Given the description of an element on the screen output the (x, y) to click on. 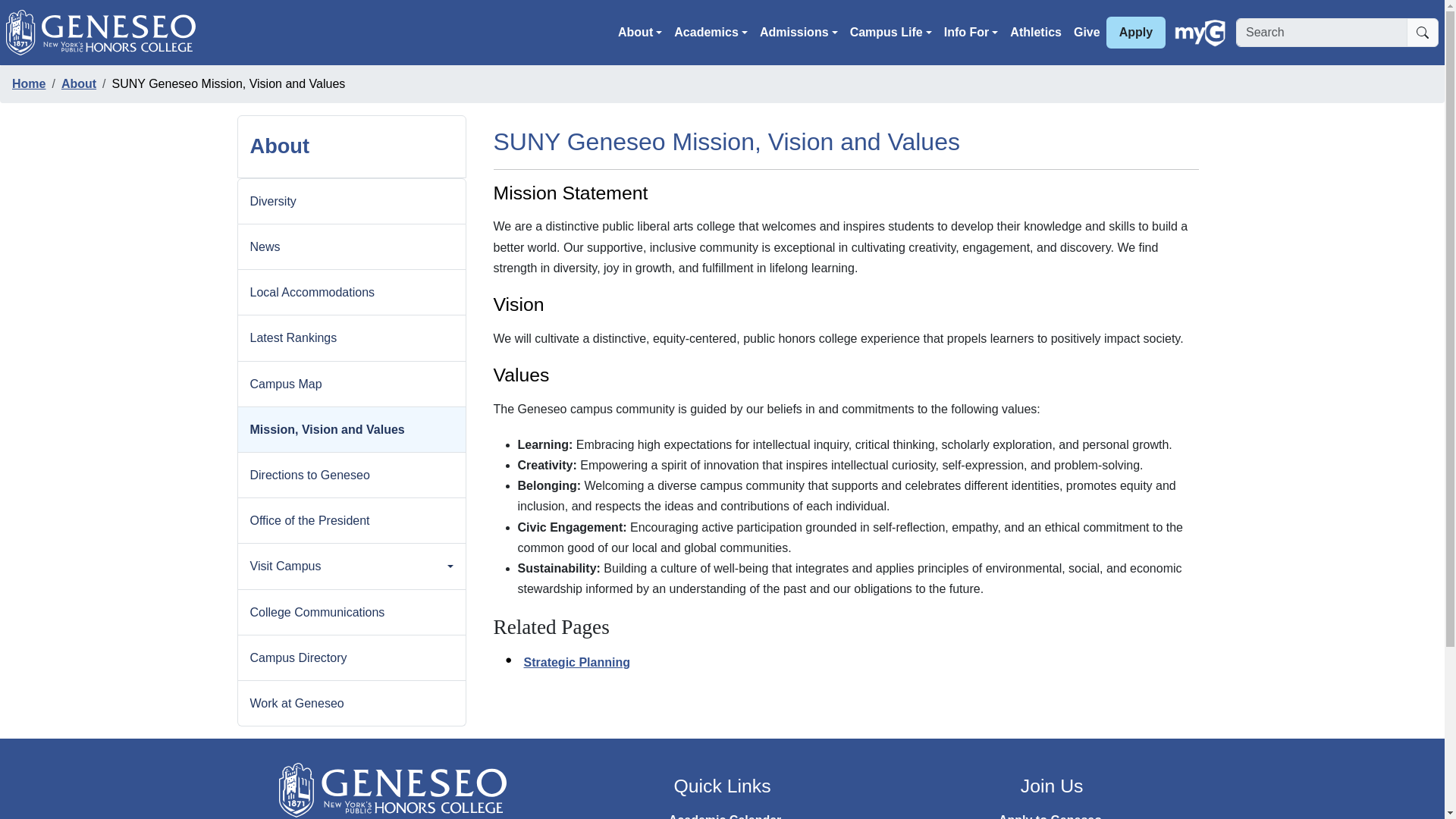
Expand menu About (639, 31)
Skip to main content (65, 11)
Expand menu Info For (970, 31)
Expand menu Admissions (799, 31)
Home (106, 32)
Expand menu Campus Life (890, 31)
Expand menu Academics (711, 31)
